Given the description of an element on the screen output the (x, y) to click on. 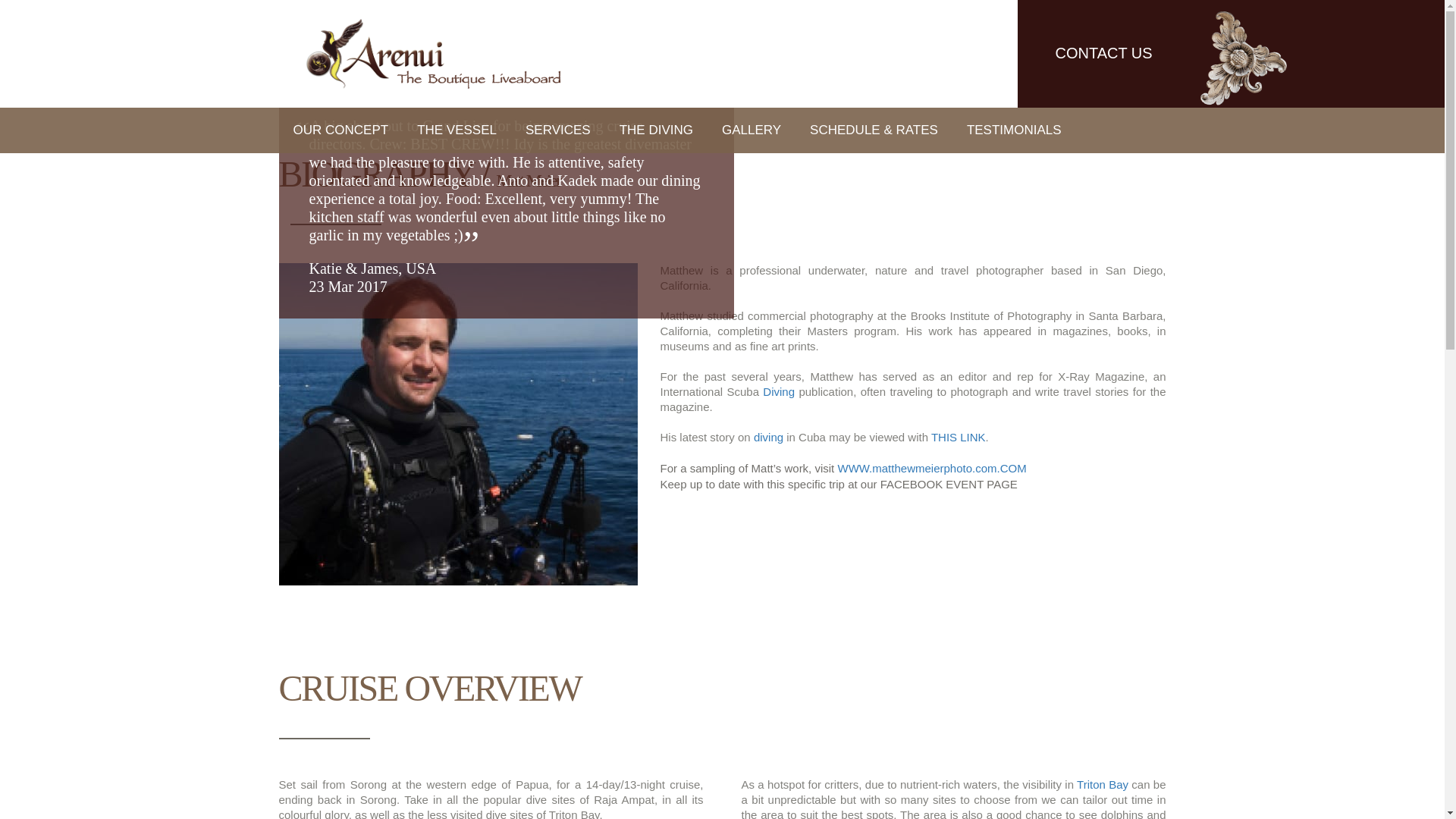
Triton Bay (1102, 784)
OUR CONCEPT (341, 130)
TESTIMONIALS (1013, 130)
THE DIVING (656, 130)
CONTACT US (1104, 54)
SERVICES (558, 130)
THE VESSEL (457, 130)
Diving (778, 391)
WWW.matthewmeierphoto.com.COM (931, 468)
THIS LINK (958, 436)
